Given the description of an element on the screen output the (x, y) to click on. 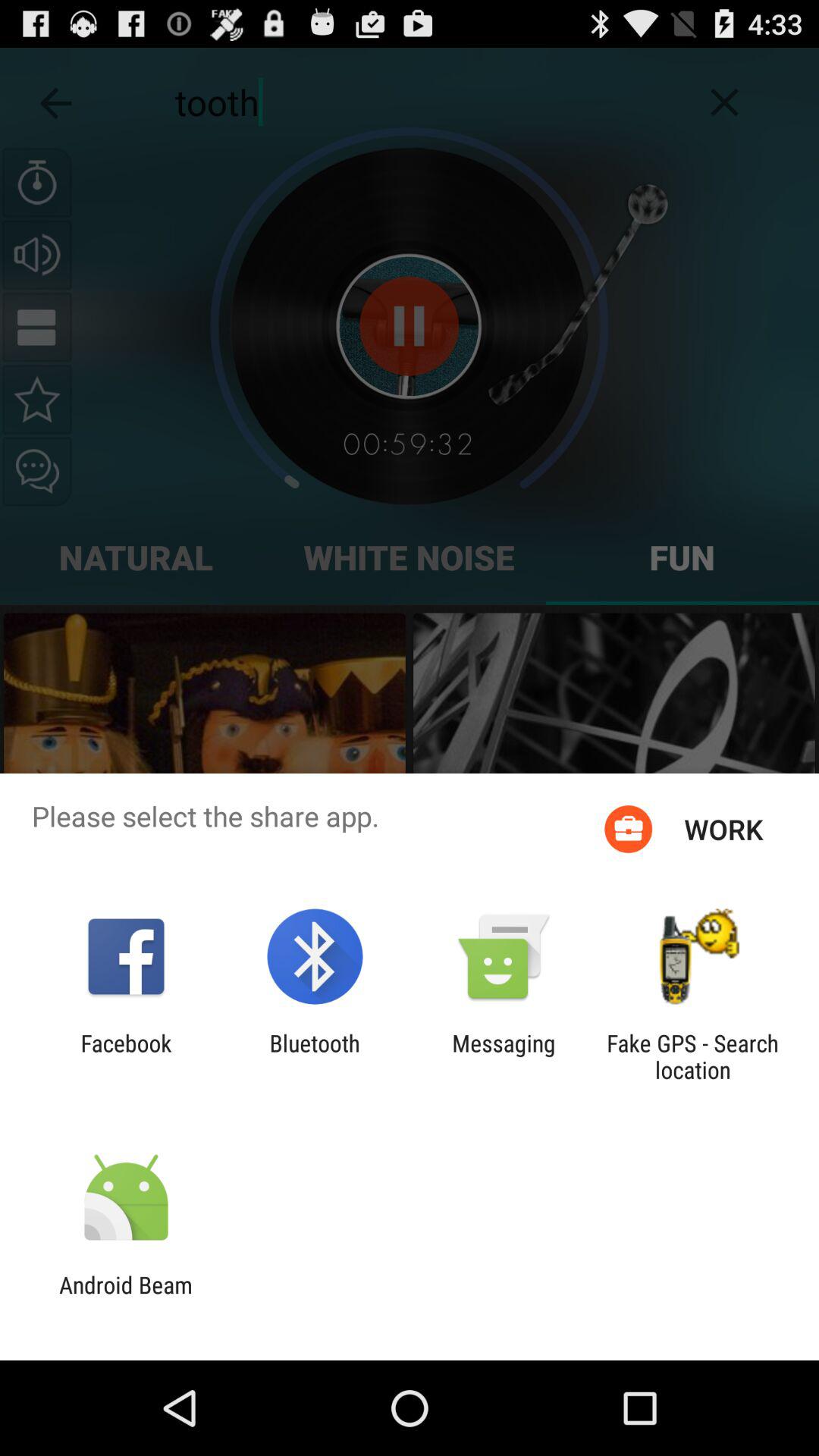
launch item next to the messaging icon (692, 1056)
